Given the description of an element on the screen output the (x, y) to click on. 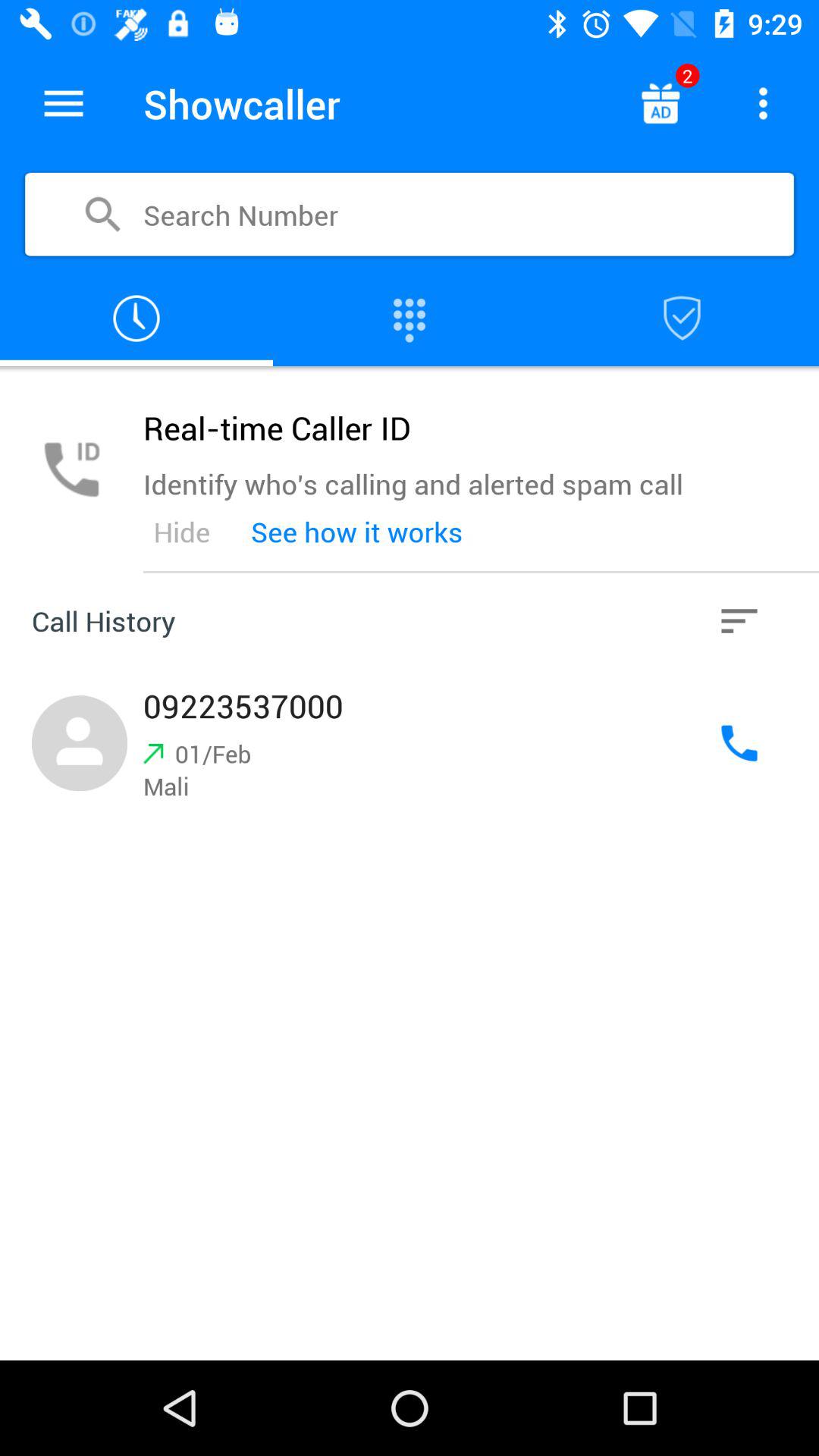
call history information (739, 620)
